Given the description of an element on the screen output the (x, y) to click on. 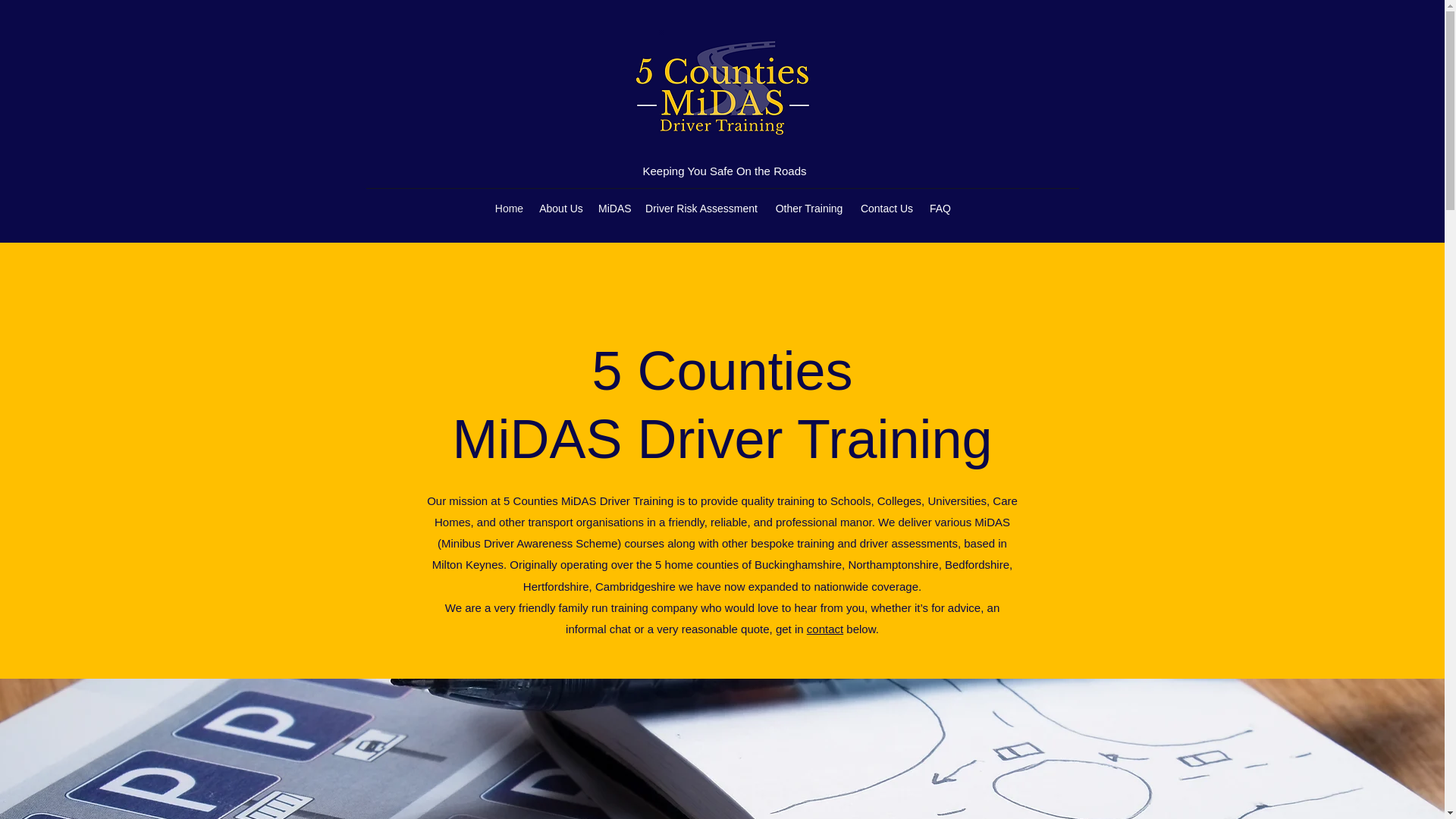
Other Training (809, 208)
Driver Risk Assessment (701, 208)
About Us (561, 208)
MiDAS (613, 208)
Contact Us (886, 208)
FAQ (939, 208)
Home (508, 208)
contact (824, 628)
